Given the description of an element on the screen output the (x, y) to click on. 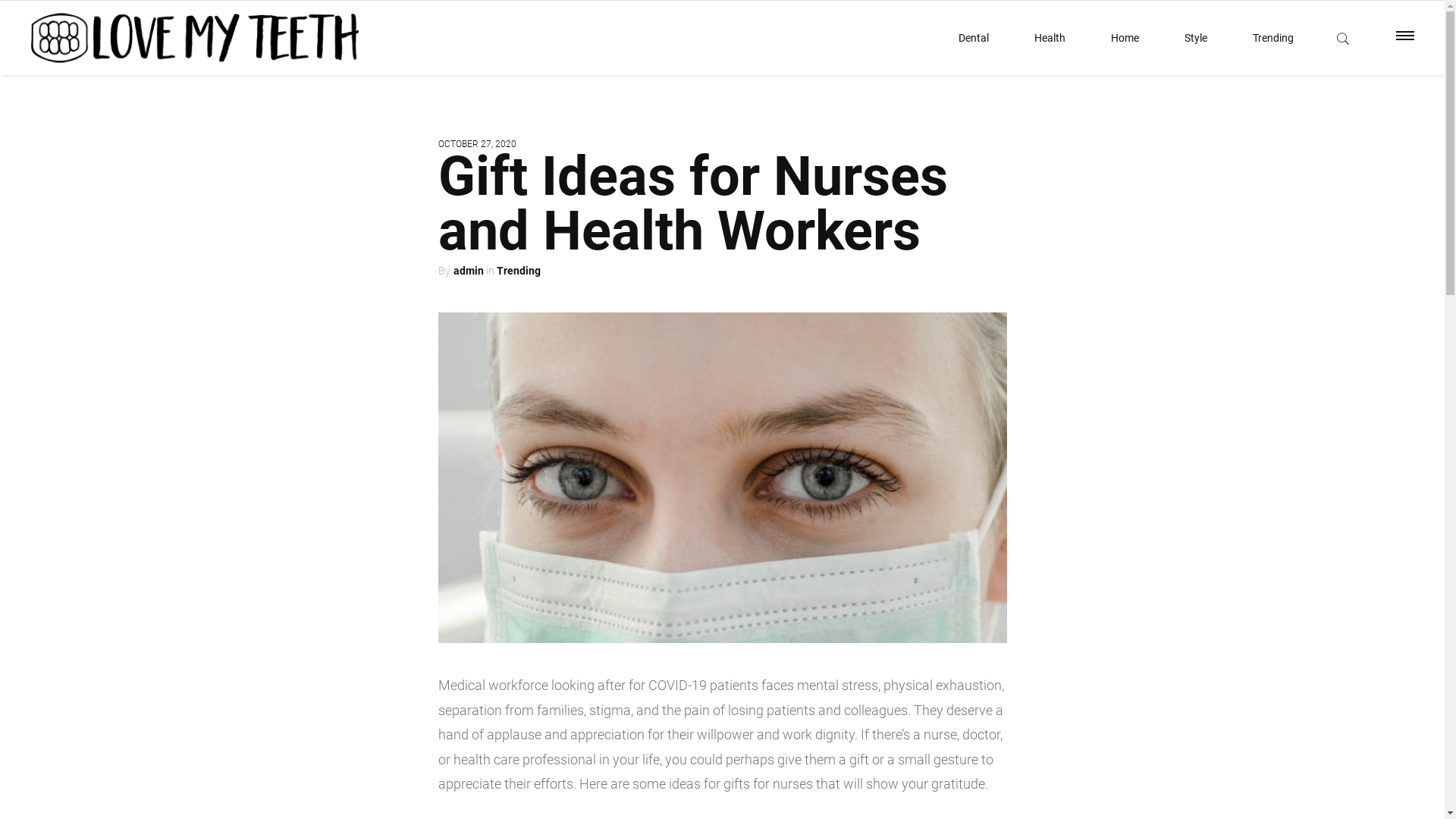
Gift Ideas for Nurses and Health Workers Element type: text (692, 203)
admin Element type: text (468, 270)
Health Element type: text (1049, 37)
Trending Element type: text (1272, 37)
Trending Element type: text (517, 270)
Home Element type: text (1124, 37)
Dental Element type: text (973, 37)
Style Element type: text (1195, 37)
